Given the description of an element on the screen output the (x, y) to click on. 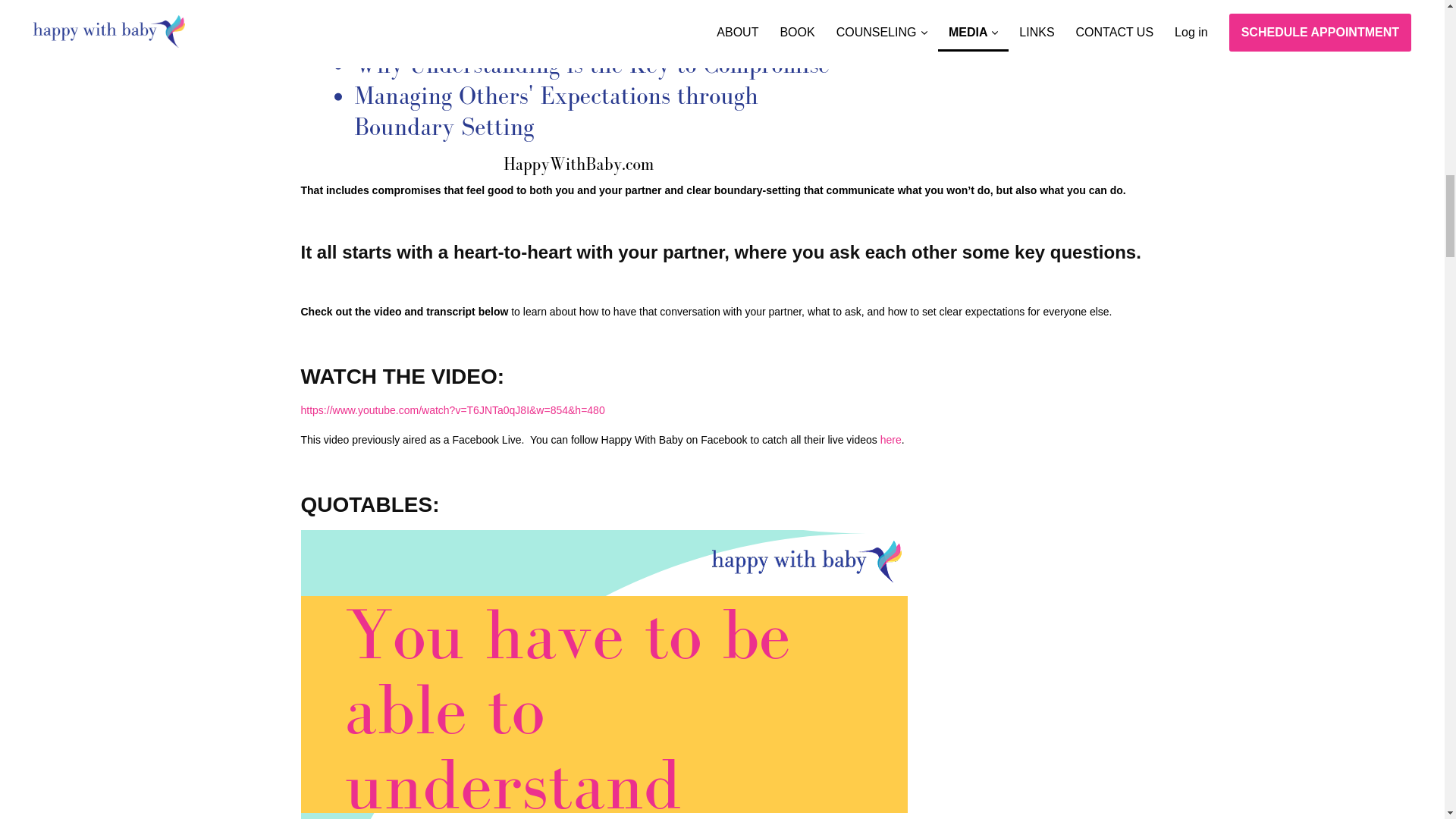
here (890, 439)
